Given the description of an element on the screen output the (x, y) to click on. 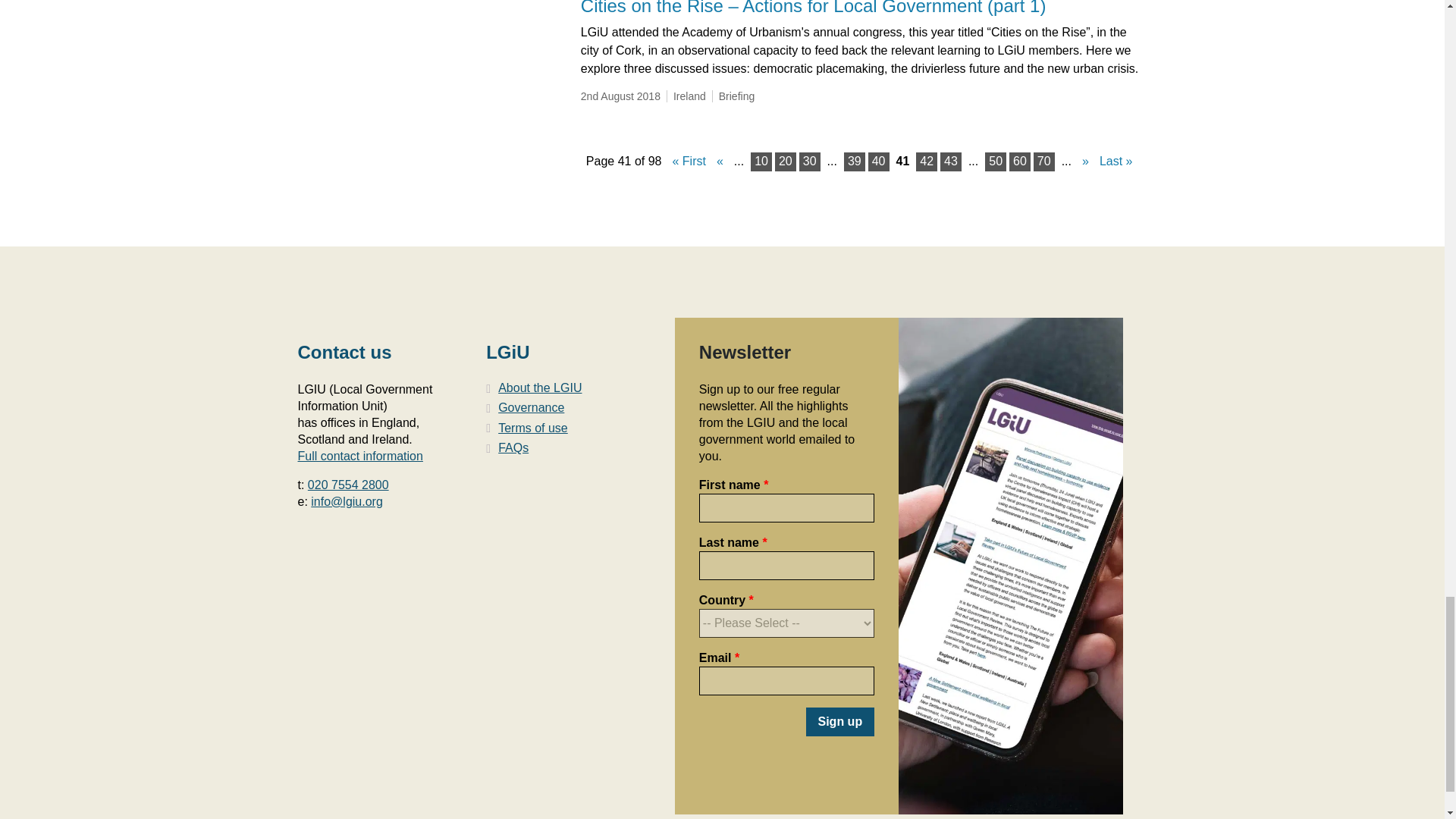
Page 10 (761, 161)
Page 40 (878, 161)
Page 30 (810, 161)
Page 20 (785, 161)
Sign up (840, 721)
Page 39 (854, 161)
